Given the description of an element on the screen output the (x, y) to click on. 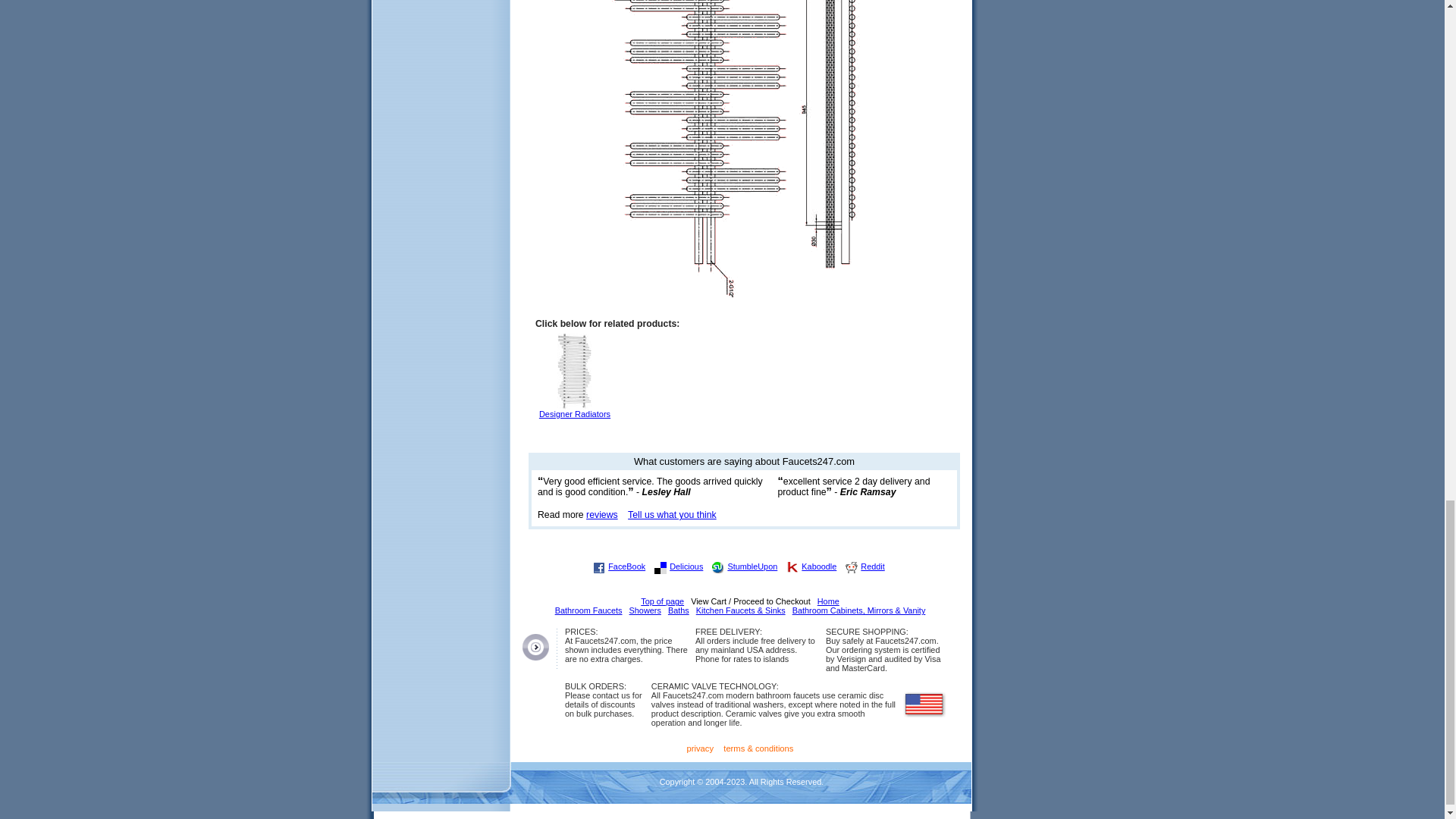
Designer Radiators (574, 416)
reviews (601, 514)
Tell us what you think (671, 514)
